Given the description of an element on the screen output the (x, y) to click on. 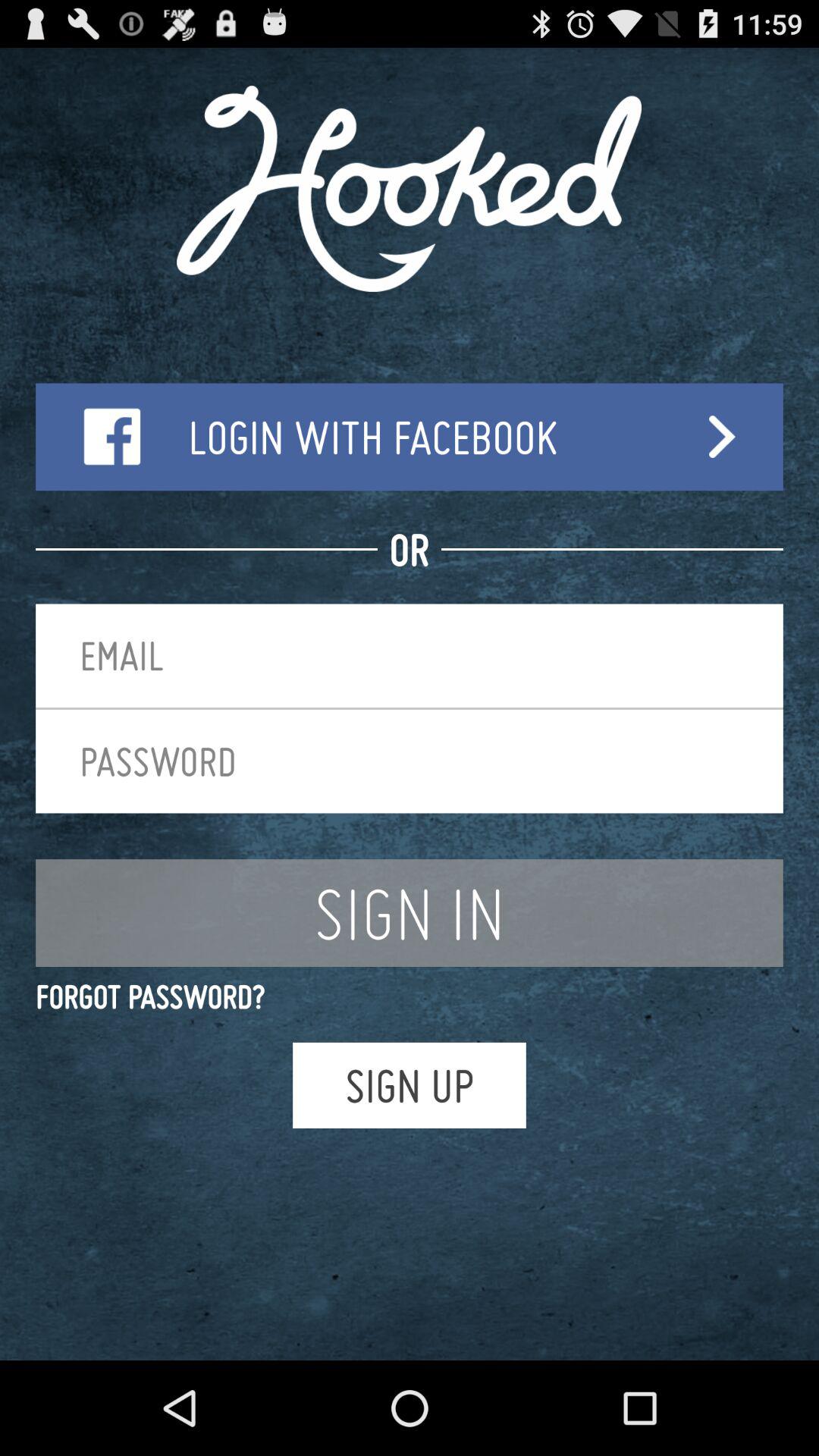
select item above the sign in (409, 761)
